Given the description of an element on the screen output the (x, y) to click on. 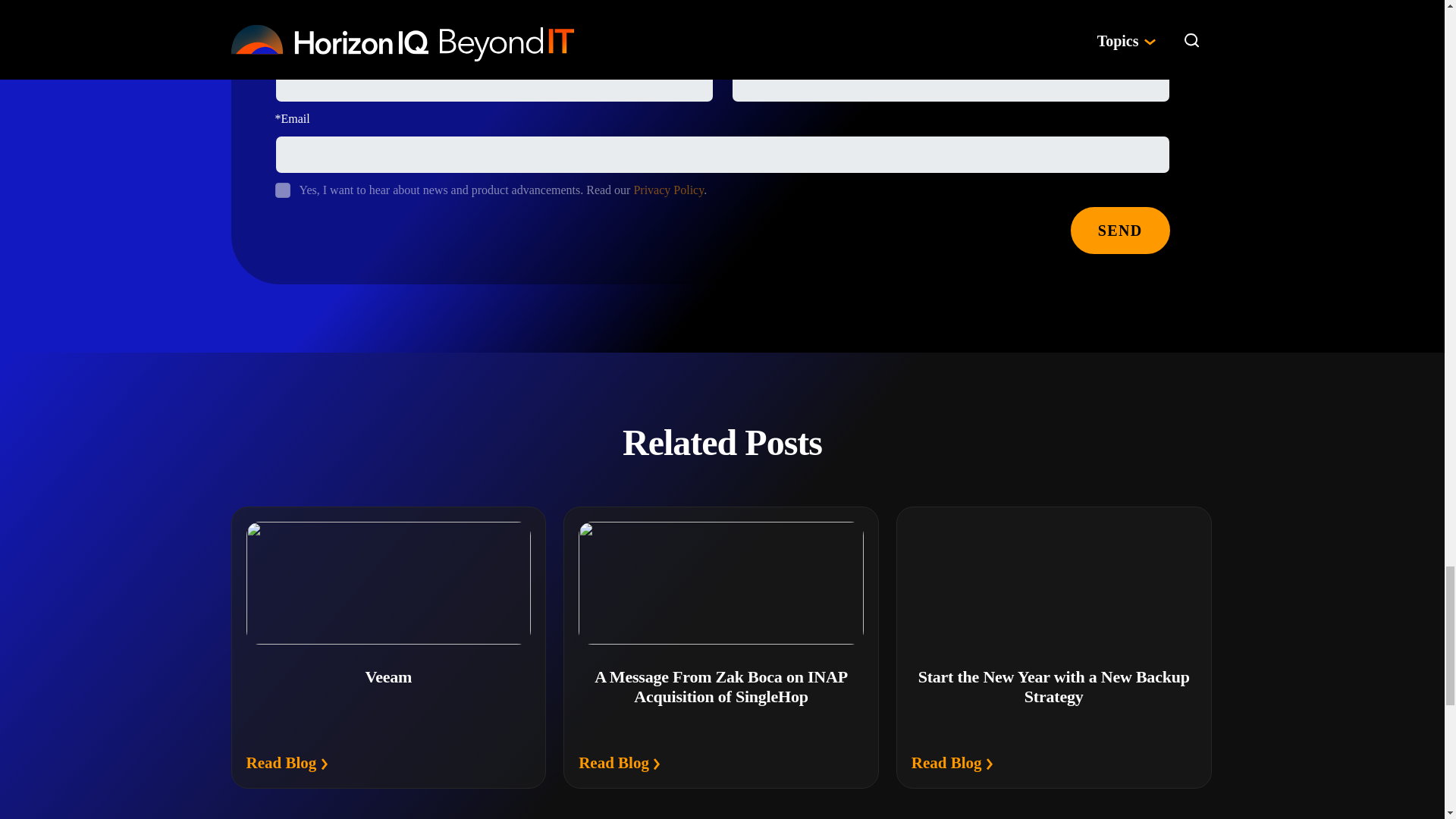
Read Blog (286, 763)
Read Blog (951, 763)
Privacy Policy (668, 189)
SEND (1120, 230)
Read Blog (619, 763)
